Given the description of an element on the screen output the (x, y) to click on. 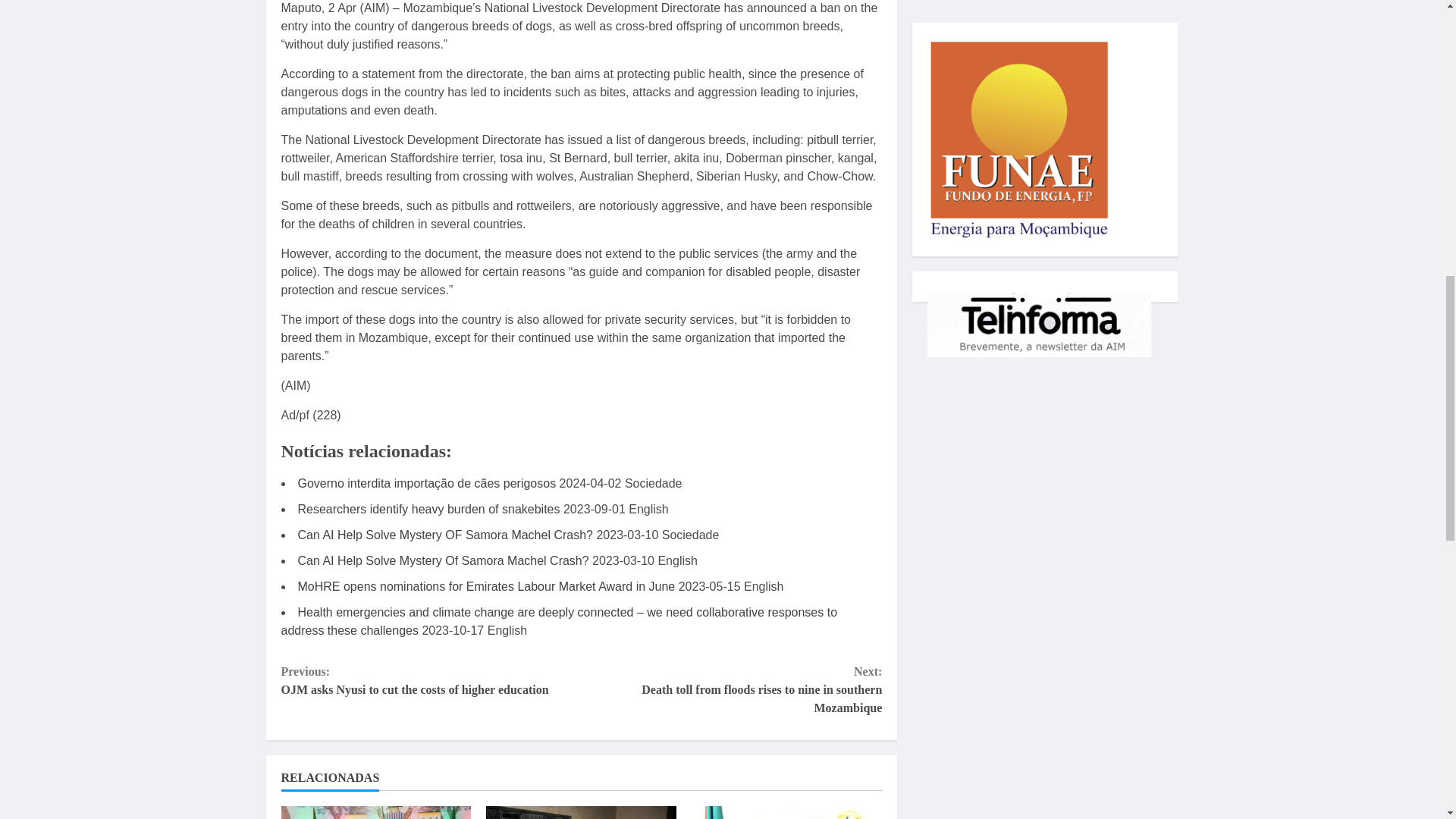
Mozambique, Zimbabwe and Zambia sign conservation agreement (375, 812)
Can AI Help Solve Mystery OF Samora Machel Crash? (444, 534)
Researchers identify heavy burden of snakebites (428, 508)
CNE rejects lists of candidates from CAD (786, 812)
Can AI Help Solve Mystery Of Samora Machel Crash? (442, 560)
35 parties standing for parliament (581, 812)
